Given the description of an element on the screen output the (x, y) to click on. 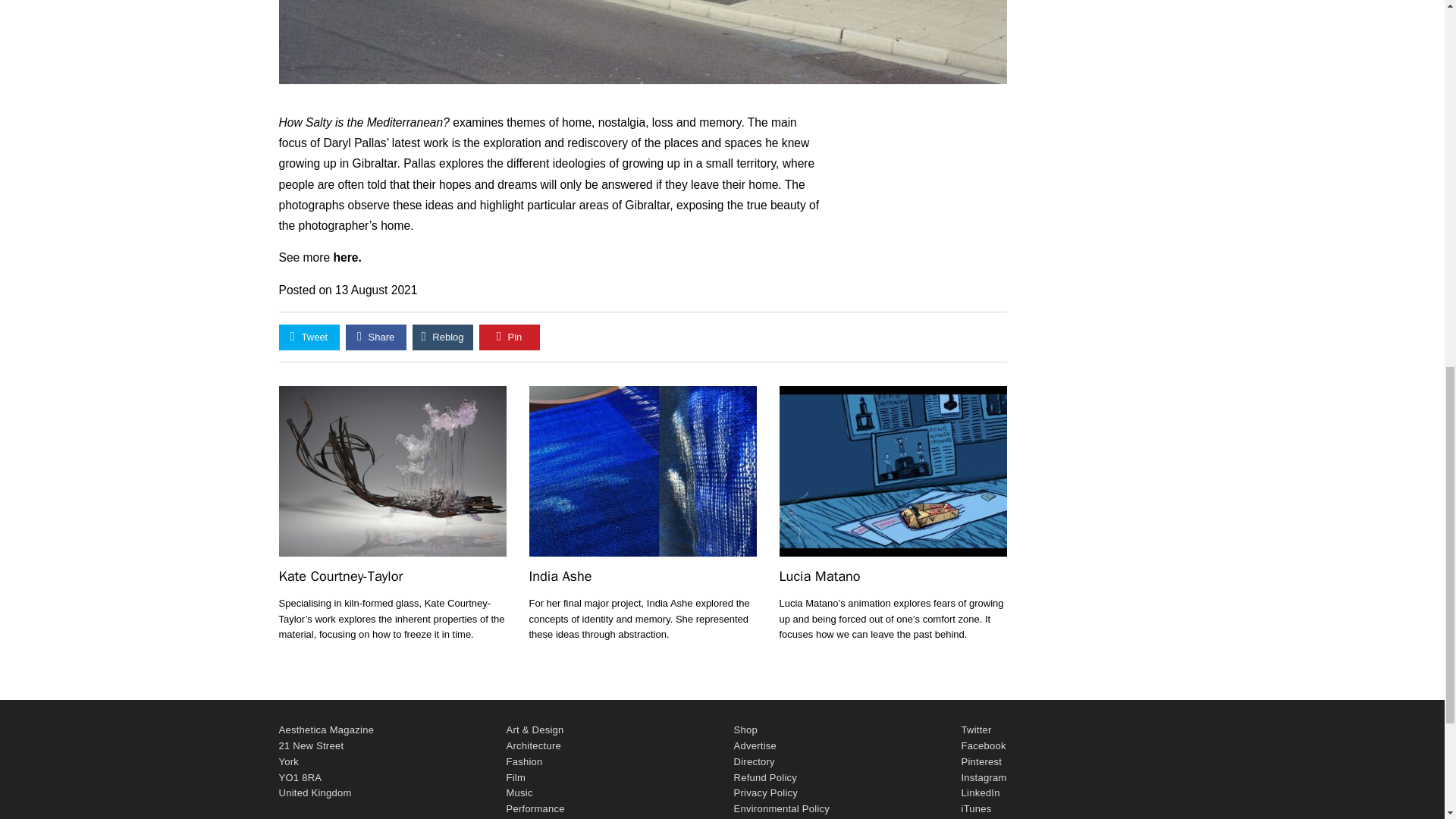
Share (376, 337)
Tweet (309, 337)
here. (347, 256)
Pin (509, 337)
Reblog (442, 337)
